Given the description of an element on the screen output the (x, y) to click on. 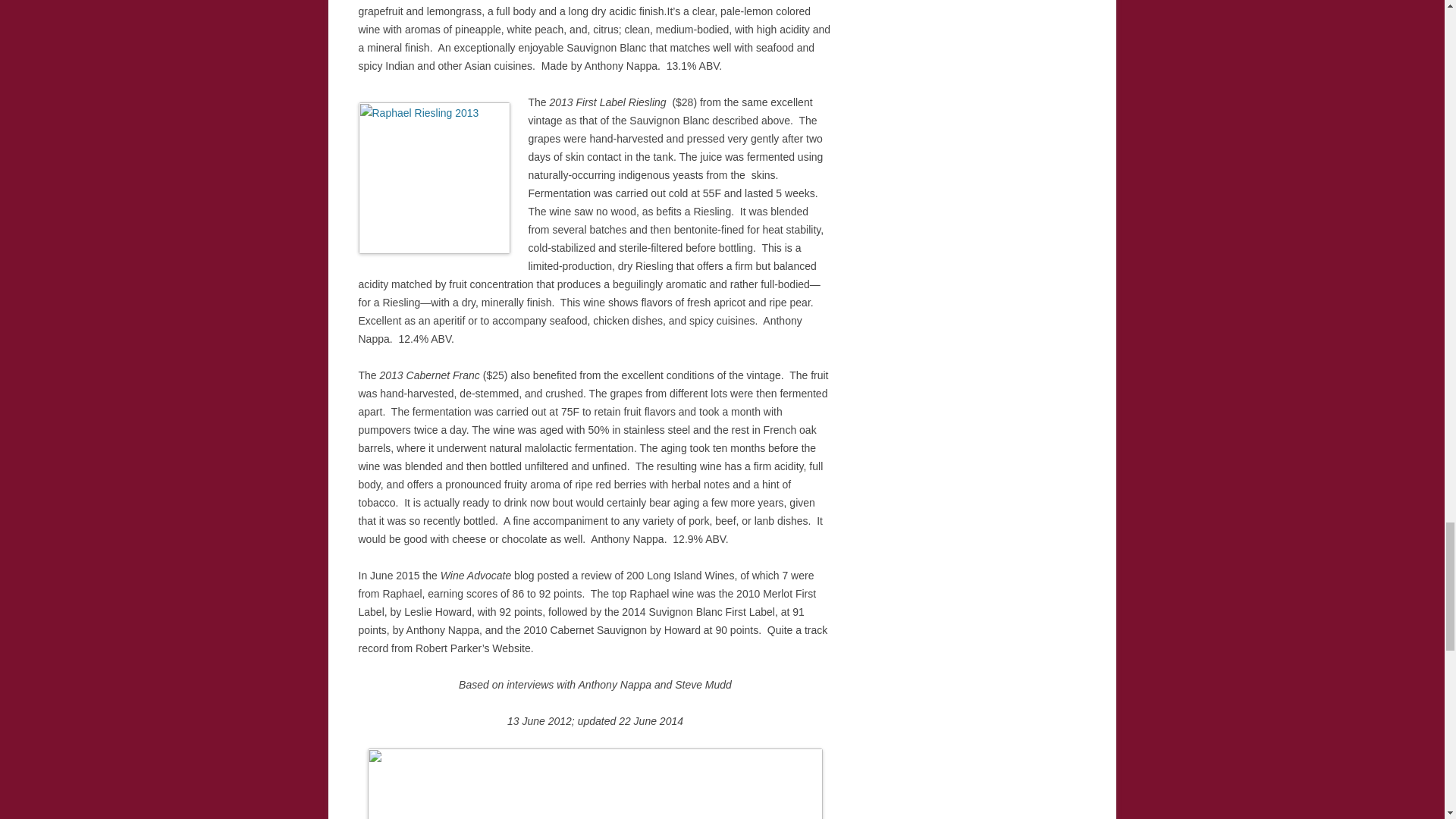
Raphael logo (595, 783)
